Given the description of an element on the screen output the (x, y) to click on. 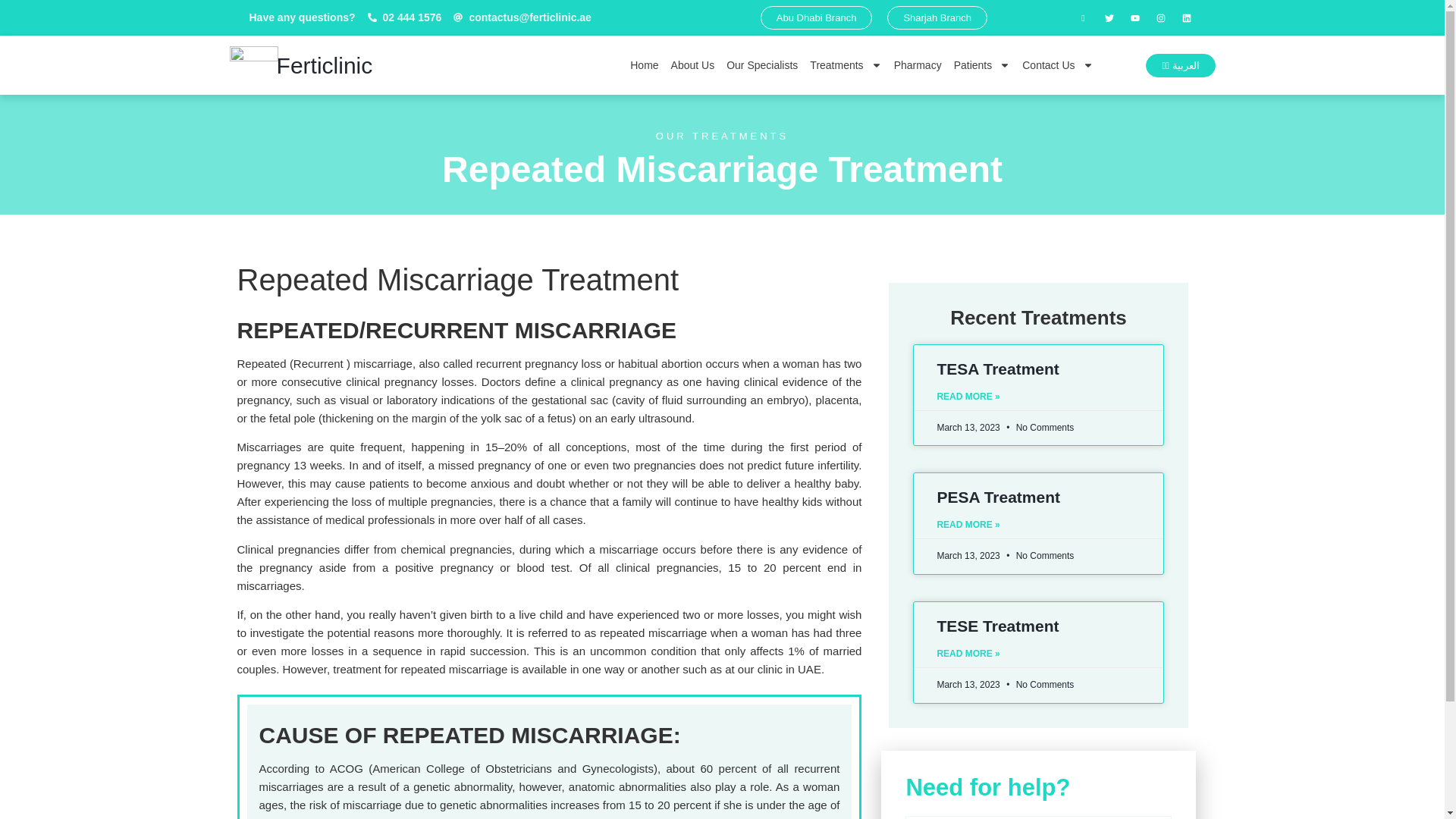
Patients (981, 64)
Contact Us (1057, 64)
Home (643, 64)
Our Specialists (761, 64)
Abu Dhabi Branch (816, 17)
Treatments (844, 64)
Sharjah Branch (936, 17)
Pharmacy (917, 64)
02 444 1576 (405, 17)
Ferticlinic (324, 65)
About Us (692, 64)
